Given the description of an element on the screen output the (x, y) to click on. 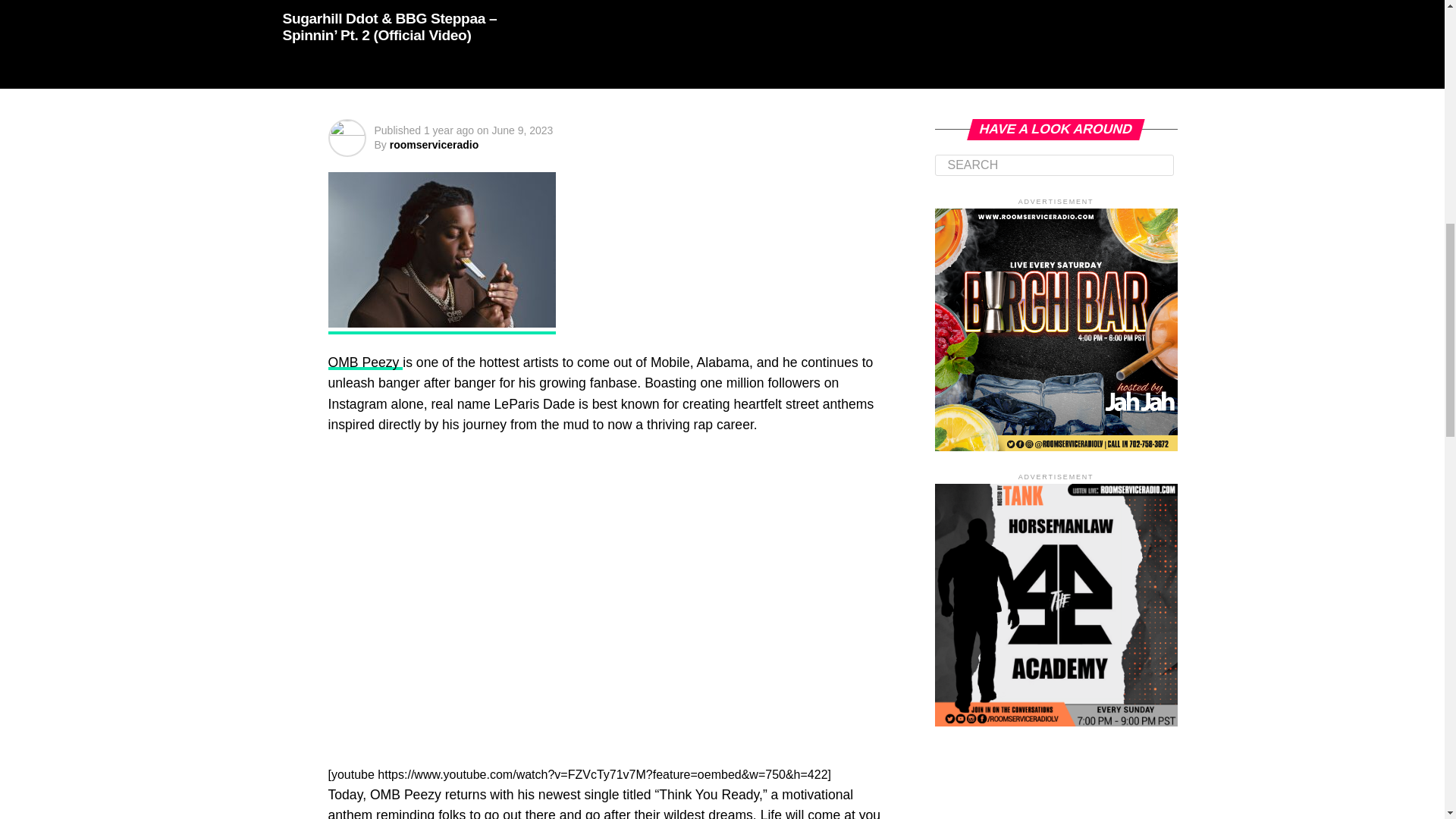
Search (1053, 165)
Posts by roomserviceradio (434, 144)
